Given the description of an element on the screen output the (x, y) to click on. 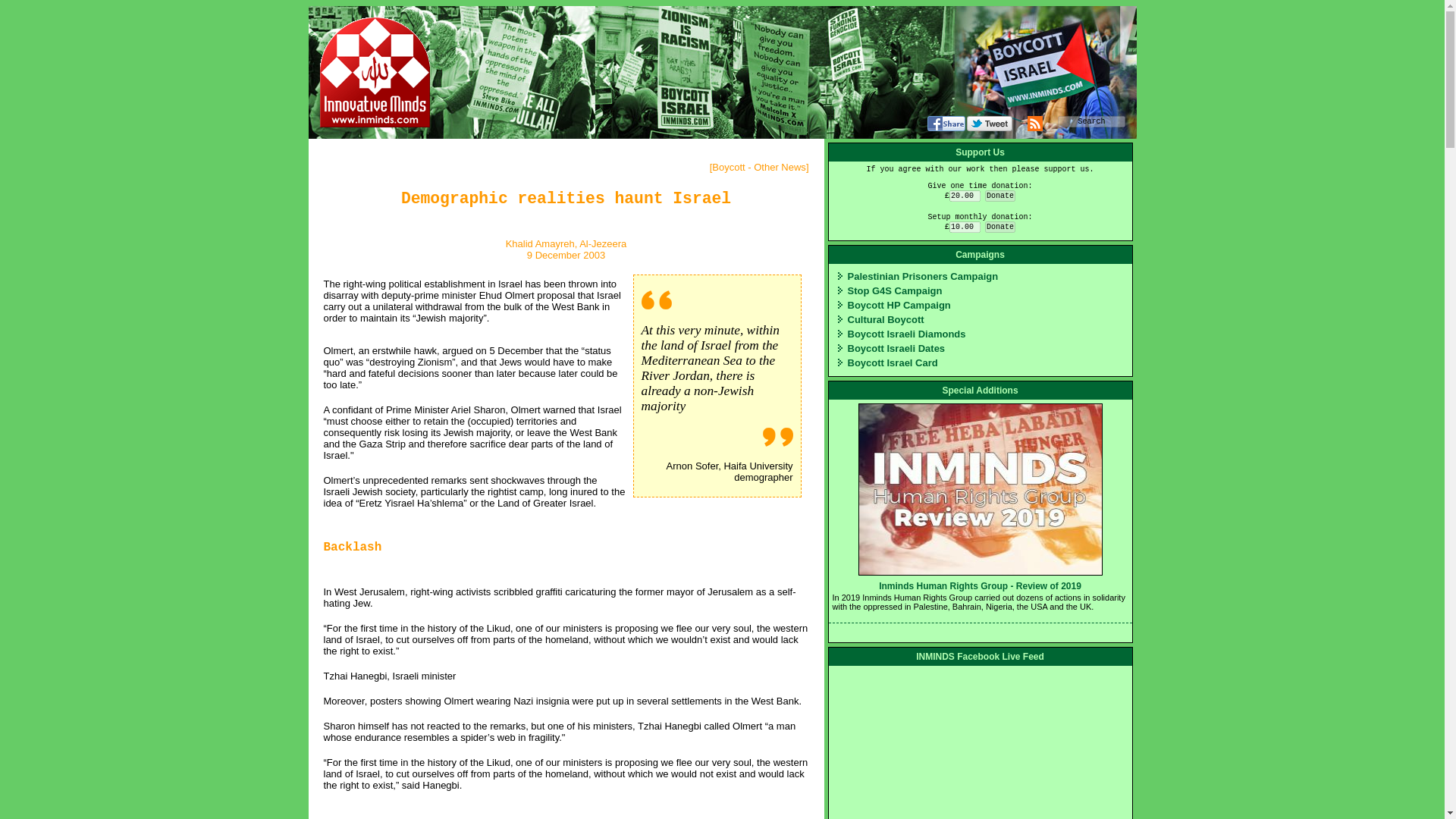
Share on Twitter (988, 123)
20.00 (964, 195)
RSS feed (1034, 123)
Donate (999, 226)
Stop G4S Campaign (894, 290)
    Search     (1091, 121)
INMINDS home page (374, 72)
Palestinian Prisoners Campaign (922, 276)
Boycott Israeli Diamonds (906, 333)
Donate (999, 226)
    Search     (1091, 121)
Boycott Israel Card (892, 362)
Donate (999, 195)
Donate (999, 195)
